Given the description of an element on the screen output the (x, y) to click on. 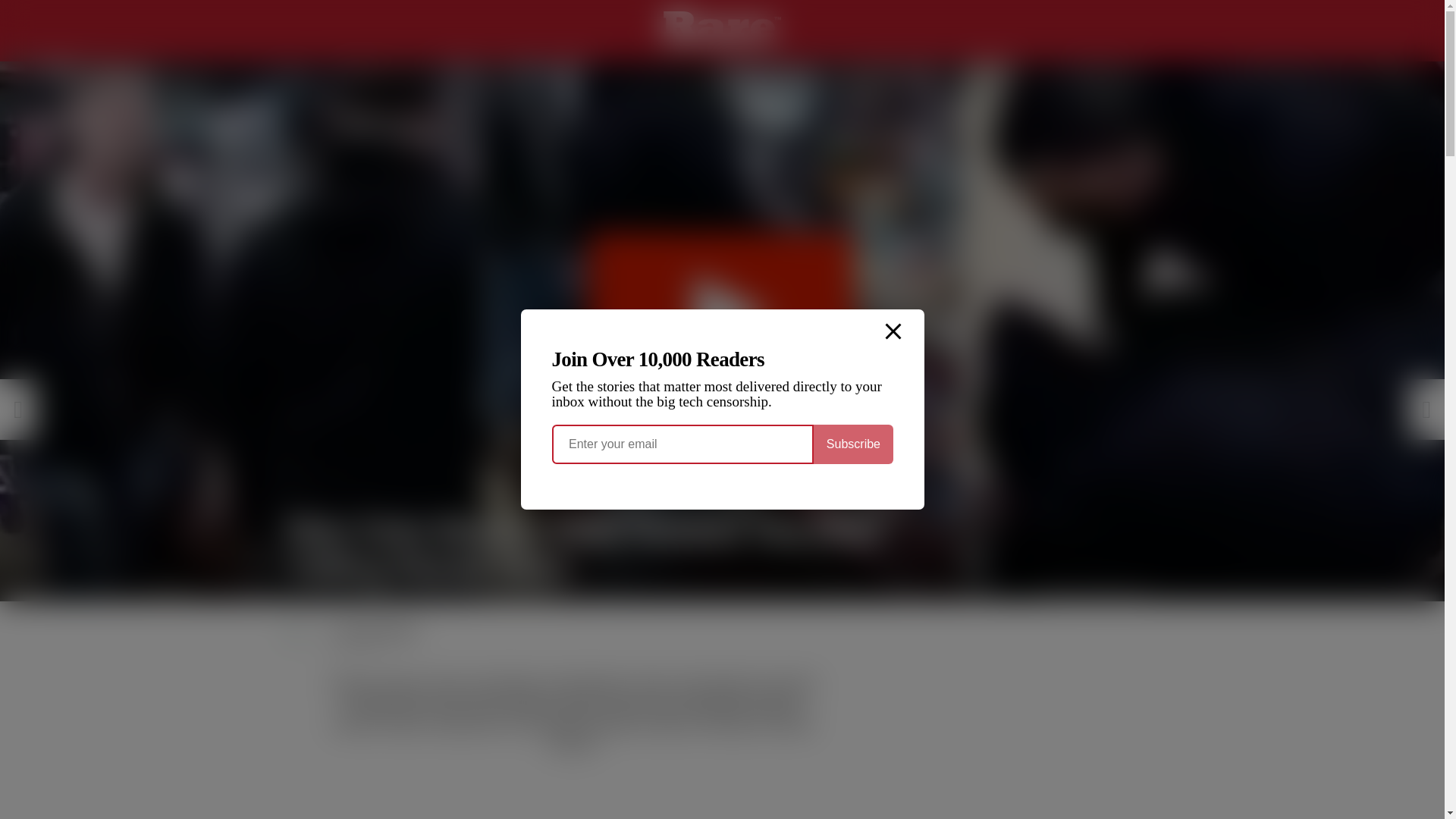
black man (403, 684)
elyria (482, 703)
brawl (447, 684)
twitter user (672, 724)
city of elyria (789, 684)
chronicle-telegram (586, 684)
n-word (622, 703)
saying n-word (463, 724)
gas station (527, 703)
beatdown (352, 684)
can of twisted tea (505, 684)
Lauren Pineda (377, 630)
white man (572, 743)
Circle K (651, 684)
Iced Tea (578, 703)
